Given the description of an element on the screen output the (x, y) to click on. 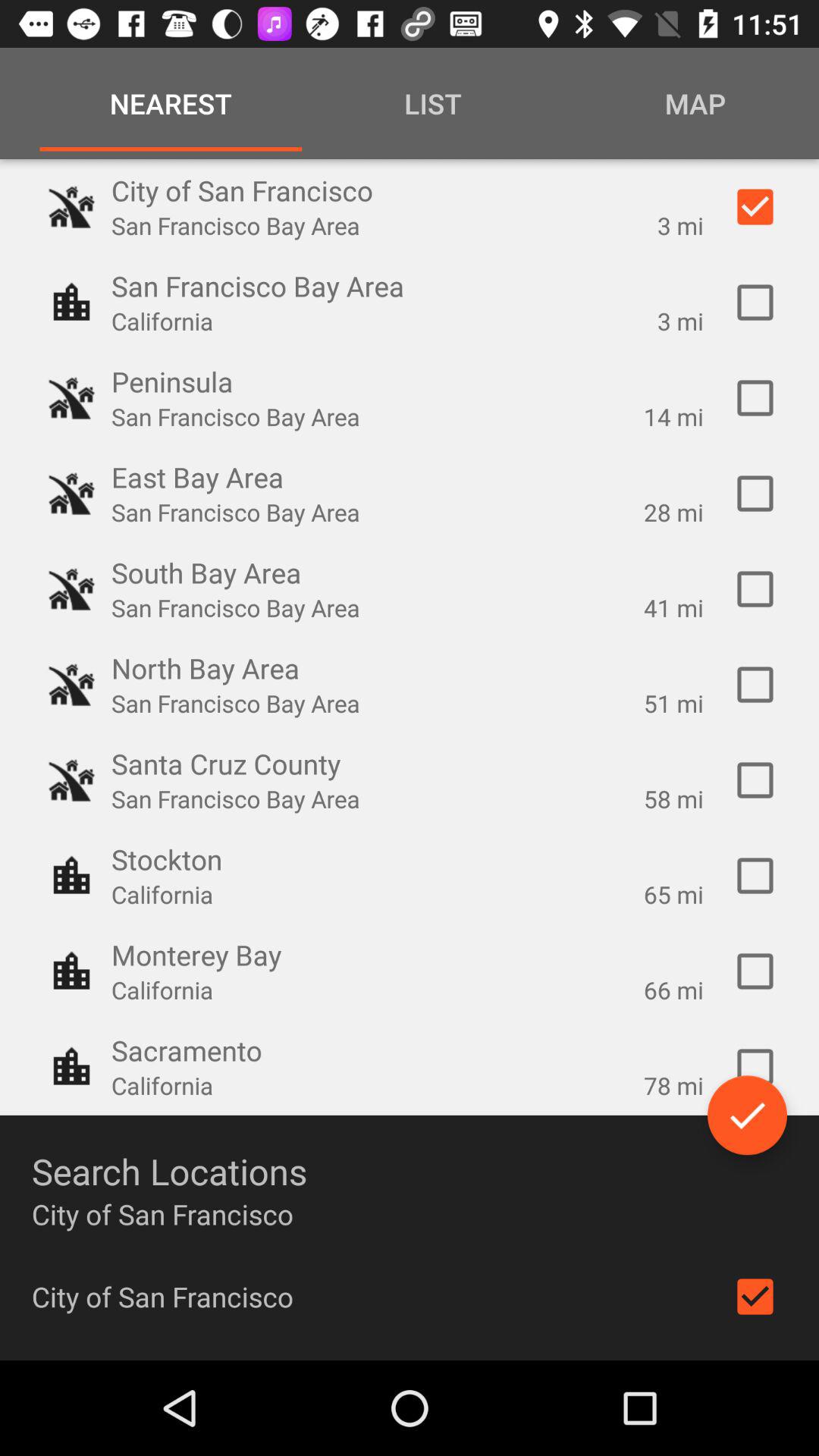
checkbox to select (755, 397)
